Given the description of an element on the screen output the (x, y) to click on. 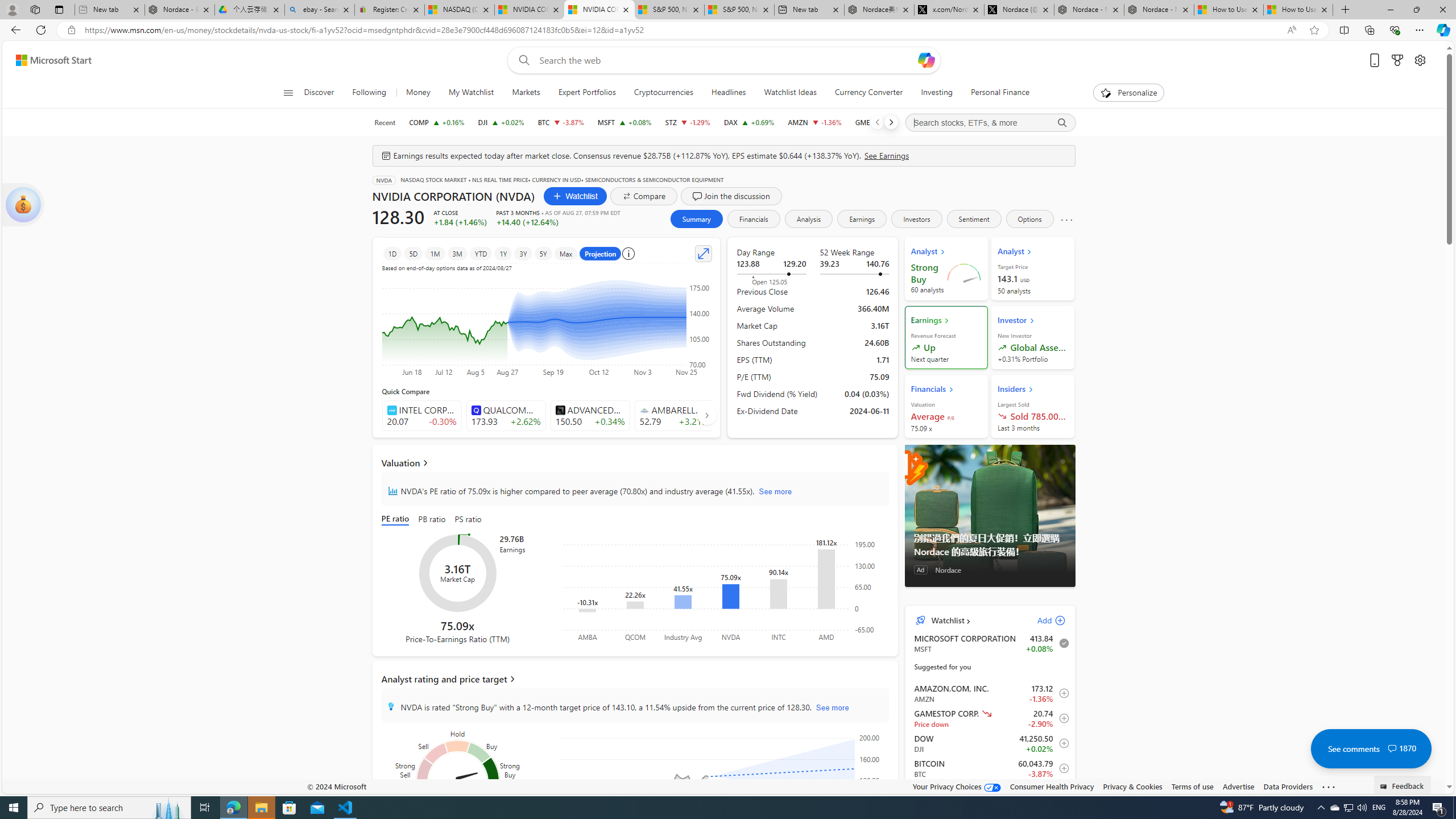
Search stocks, ETFs, & more (989, 122)
Sentiment (973, 218)
Register: Create a personal eBay account (389, 9)
Expert Portfolios (586, 92)
Investing (936, 92)
ETH Ethereum decrease 2,529.56 -87.30 -3.45% item4 (989, 792)
Analysis (808, 218)
BTC Bitcoin decrease 60,043.79 -2,323.69 -3.87% (560, 122)
Privacy & Cookies (1131, 785)
